Given the description of an element on the screen output the (x, y) to click on. 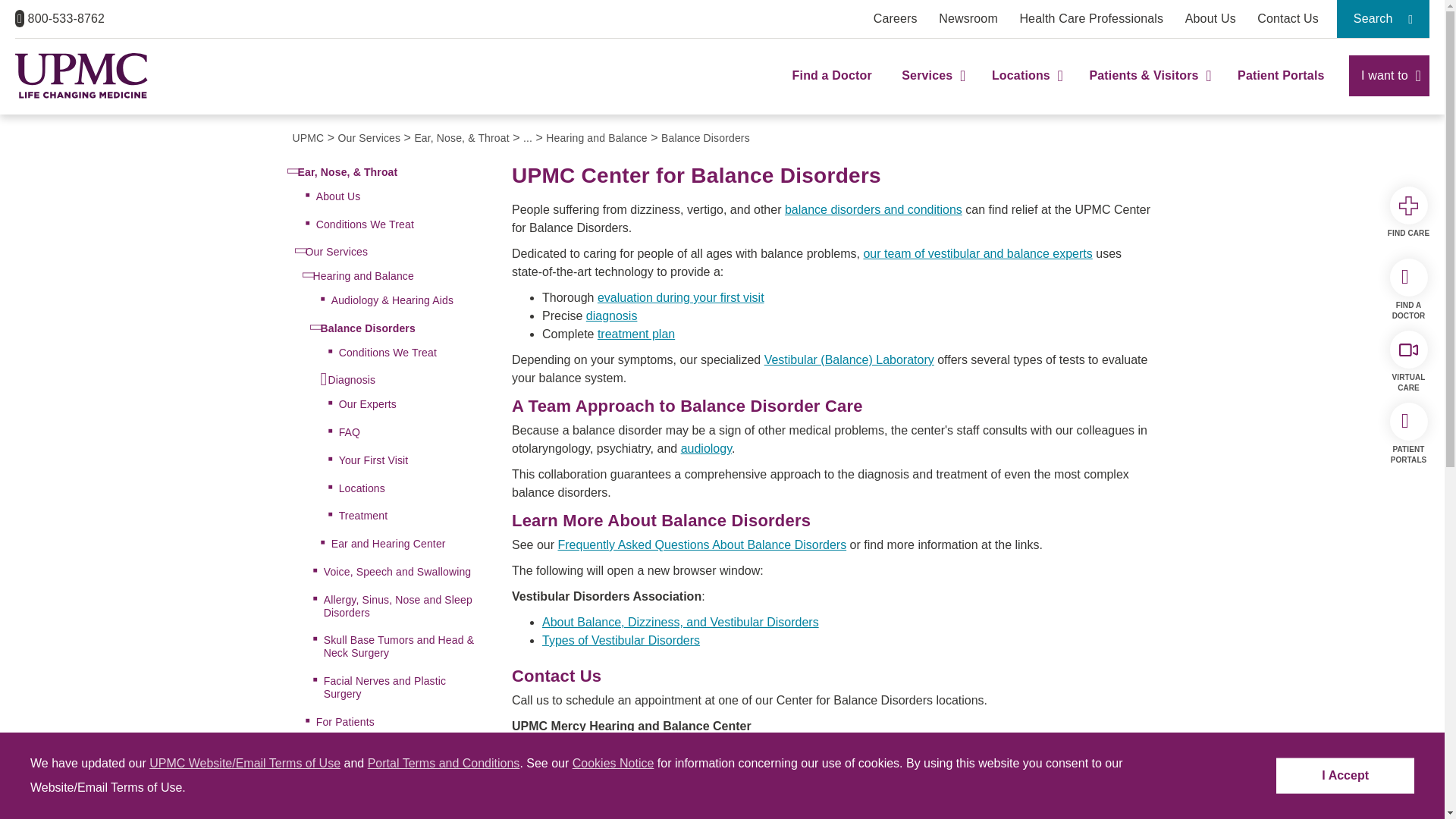
Cookies Notice (612, 762)
About Us (1210, 18)
800-533-8762 (59, 18)
Newsroom (968, 18)
Health Care Professionals (1091, 18)
Contact Us (1288, 18)
I Accept (1344, 775)
Search (1382, 18)
Learn more about careers and job openings at UPMC. (895, 18)
Find a Doctor (832, 89)
Portal Terms and Conditions (443, 762)
Services (930, 89)
Contact UPMC (1288, 18)
Careers (895, 18)
UPMC (81, 75)
